Given the description of an element on the screen output the (x, y) to click on. 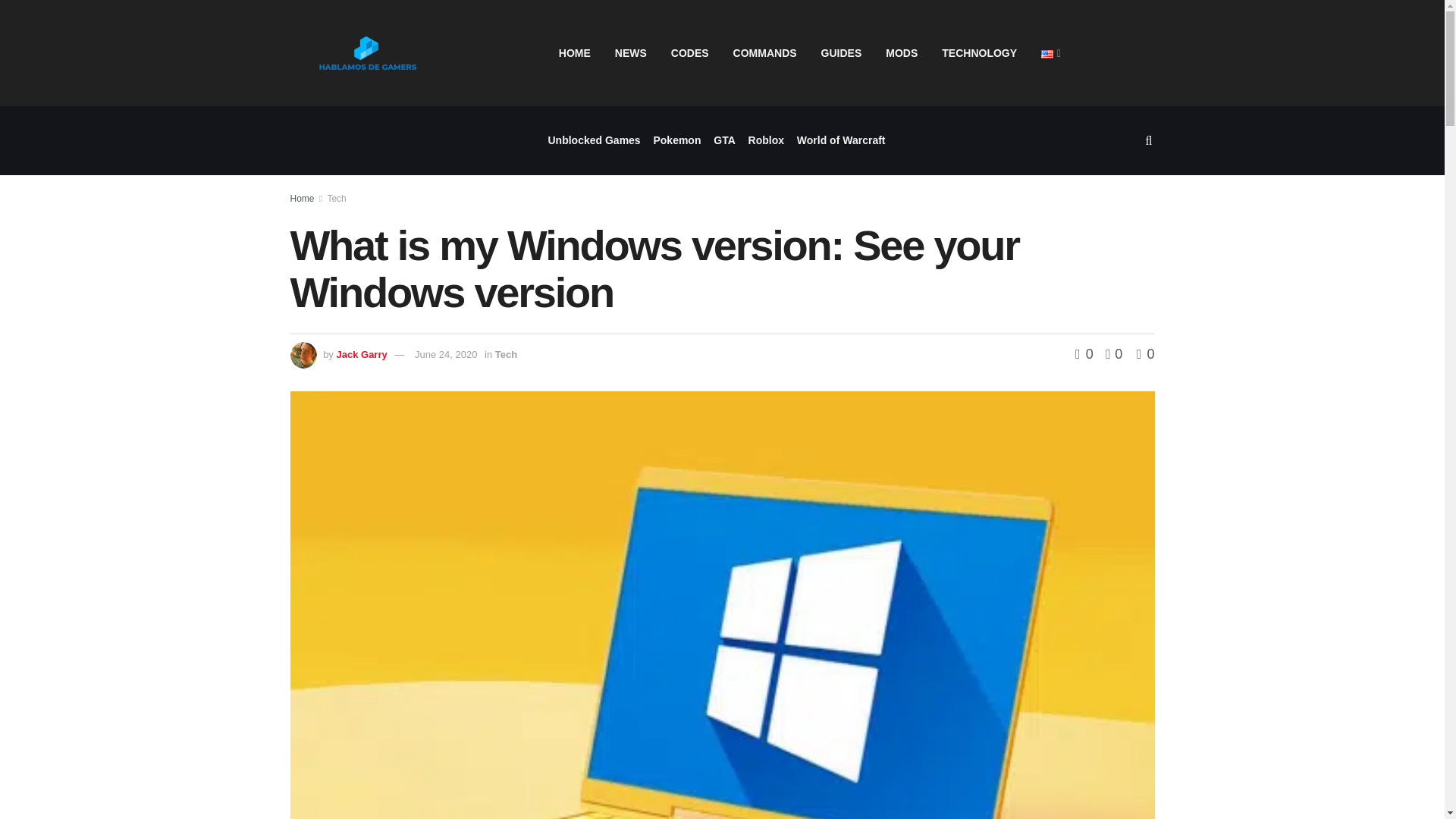
Jack Garry (361, 354)
MODS (901, 53)
GUIDES (842, 53)
World of Warcraft (840, 140)
CODES (689, 53)
Unblocked Games (593, 140)
NEWS (630, 53)
COMMANDS (764, 53)
0 (1086, 353)
TECHNOLOGY (979, 53)
HOME (574, 53)
Tech (336, 198)
June 24, 2020 (445, 354)
Tech (505, 354)
Home (301, 198)
